Given the description of an element on the screen output the (x, y) to click on. 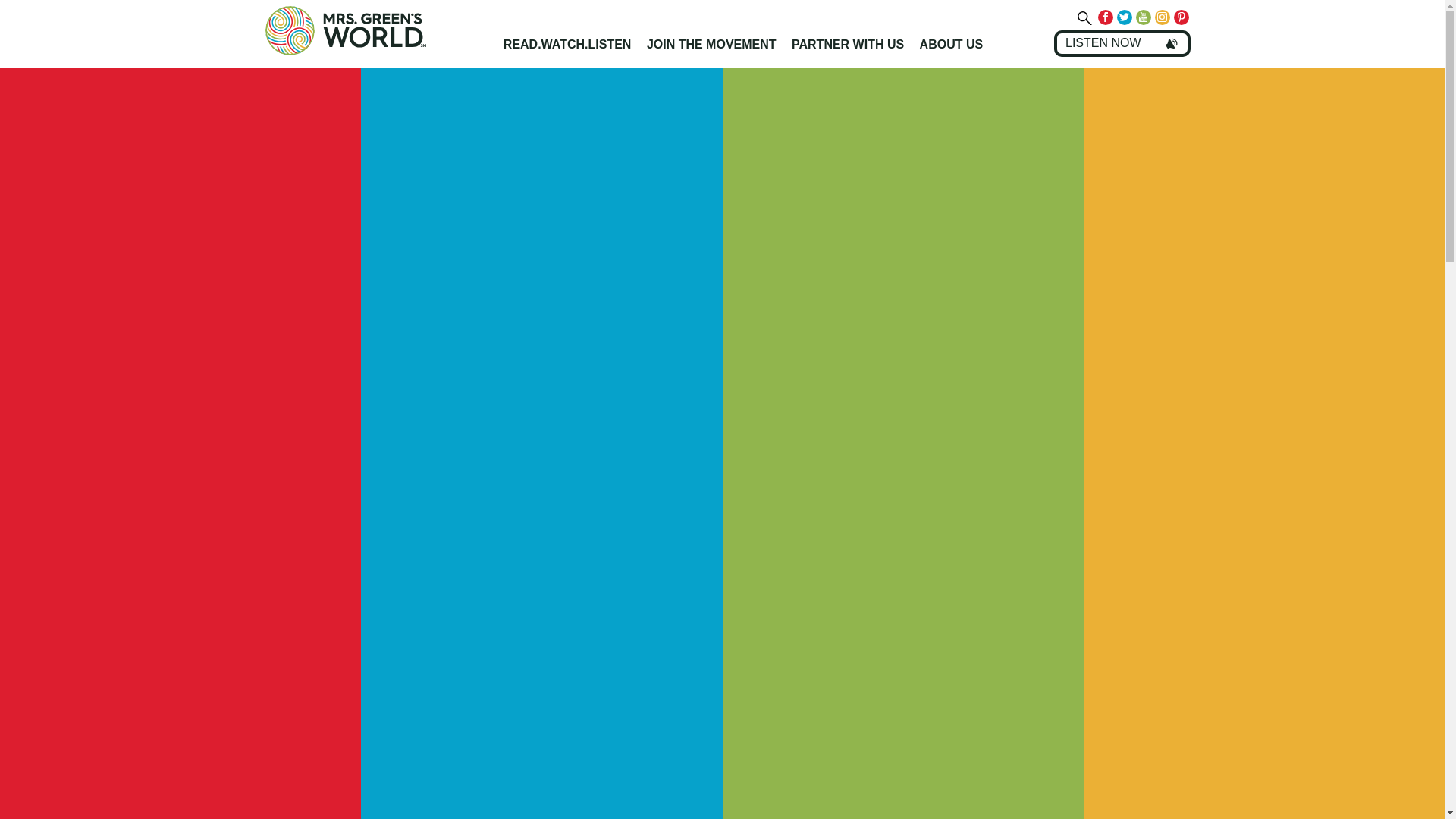
PARTNER WITH US (848, 43)
LISTEN NOW (1122, 43)
about-us (952, 43)
Mrs Greens World (377, 30)
join-the-movement (711, 43)
read-watch-listen (567, 43)
READ.WATCH.LISTEN (567, 43)
JOIN THE MOVEMENT (711, 43)
Mrs Greens World (377, 30)
ABOUT US (952, 43)
partner-with-us (848, 43)
